Given the description of an element on the screen output the (x, y) to click on. 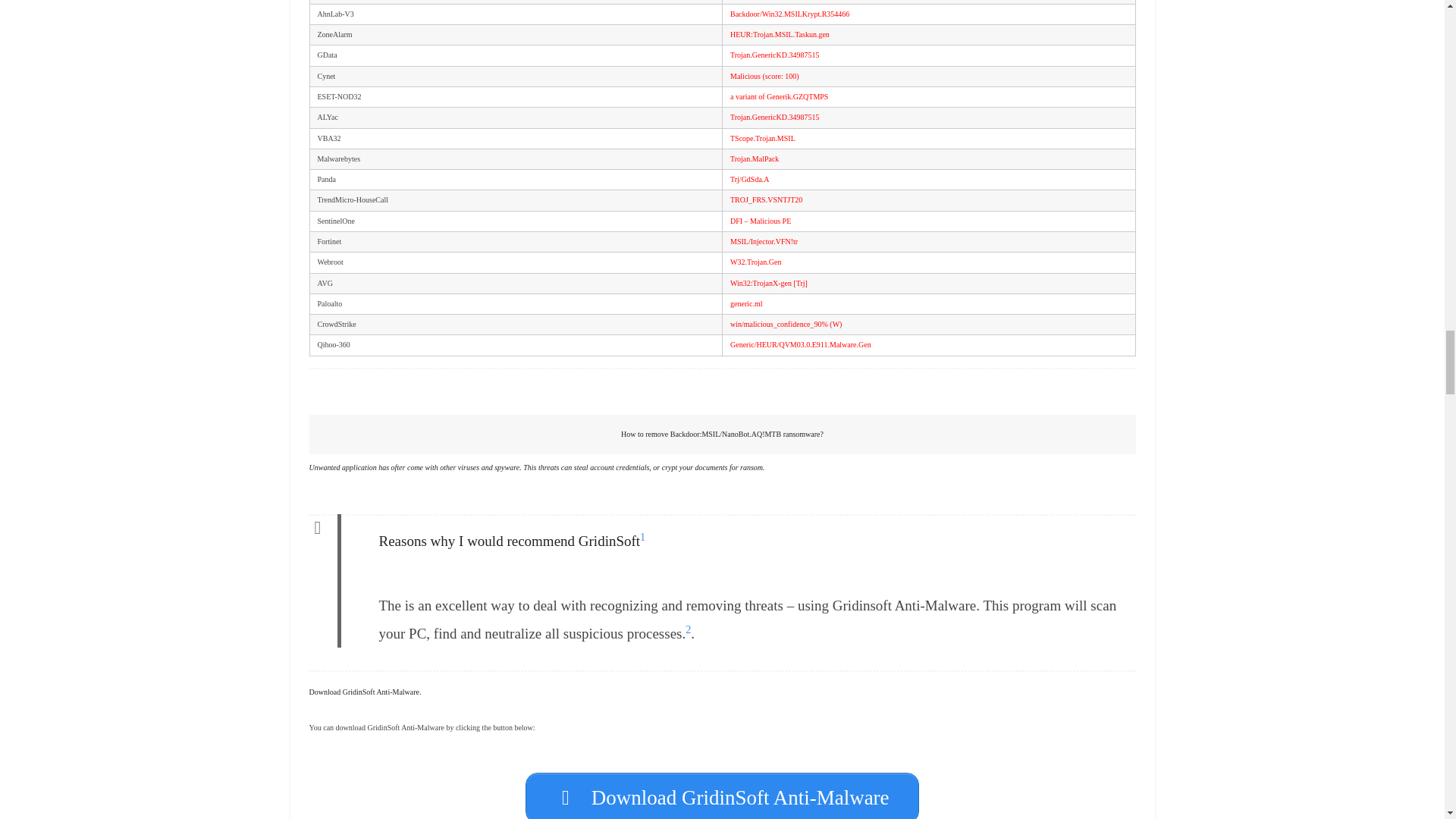
Download GridinSoft Anti-Malware (721, 796)
